Given the description of an element on the screen output the (x, y) to click on. 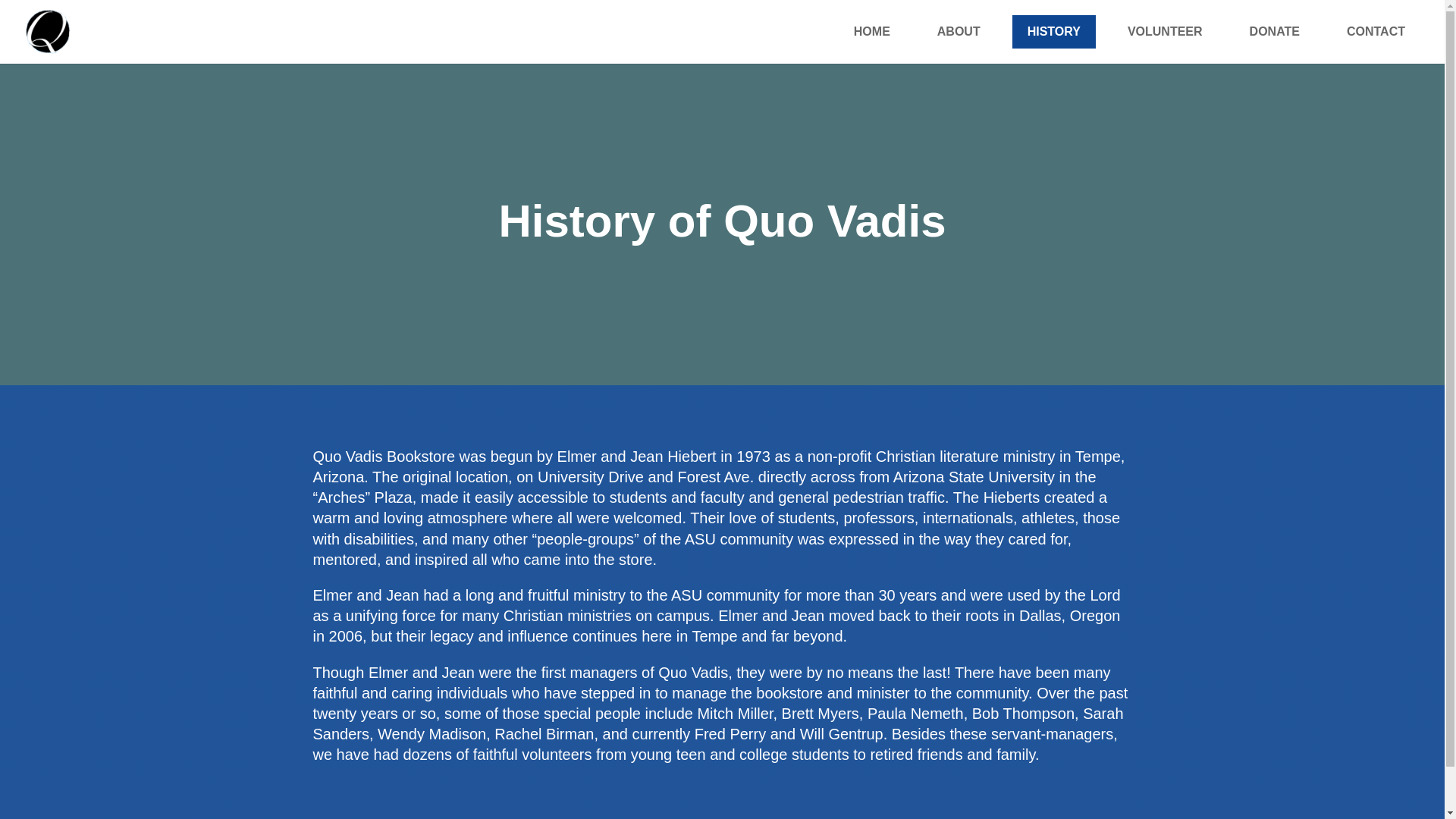
HISTORY (1053, 31)
HOME (871, 31)
VOLUNTEER (1164, 31)
CONTACT (1376, 31)
ABOUT (958, 31)
DONATE (1274, 31)
